Given the description of an element on the screen output the (x, y) to click on. 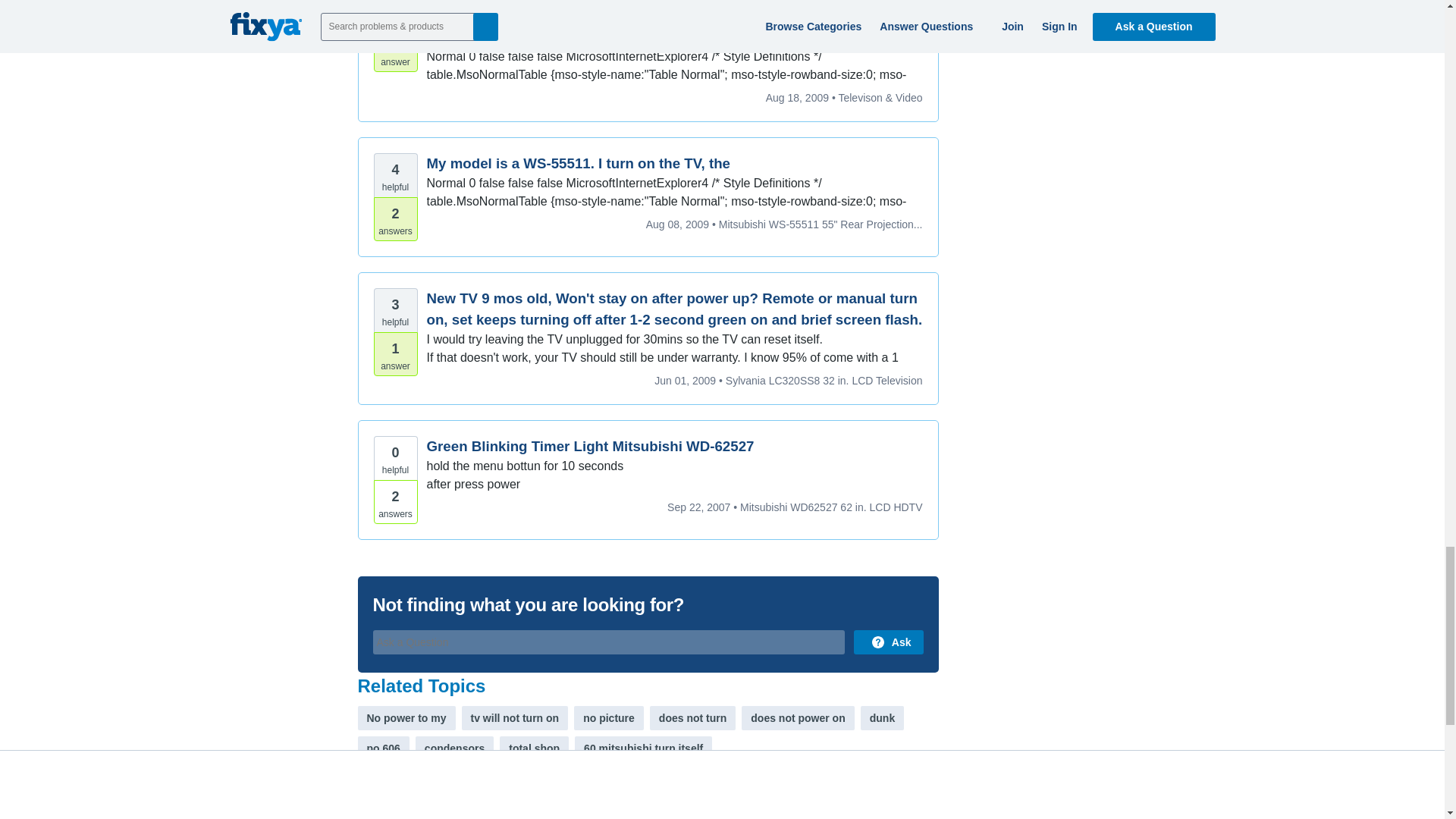
Ask (888, 641)
